Given the description of an element on the screen output the (x, y) to click on. 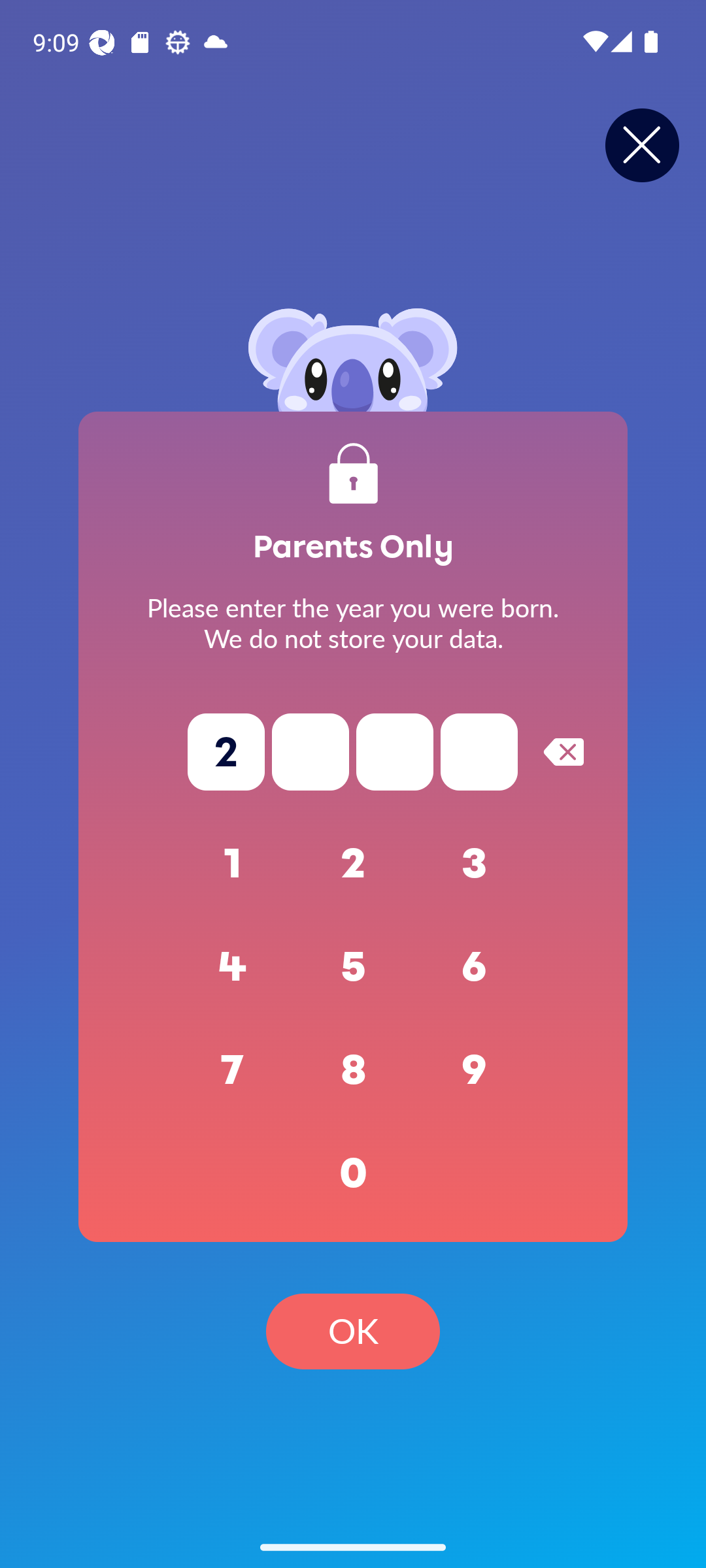
Delete (563, 751)
1 (232, 863)
2 (353, 863)
3 (474, 863)
4 (232, 966)
5 (353, 966)
6 (474, 966)
7 (232, 1069)
8 (353, 1069)
9 (474, 1069)
0 (353, 1173)
OK (352, 1331)
